Given the description of an element on the screen output the (x, y) to click on. 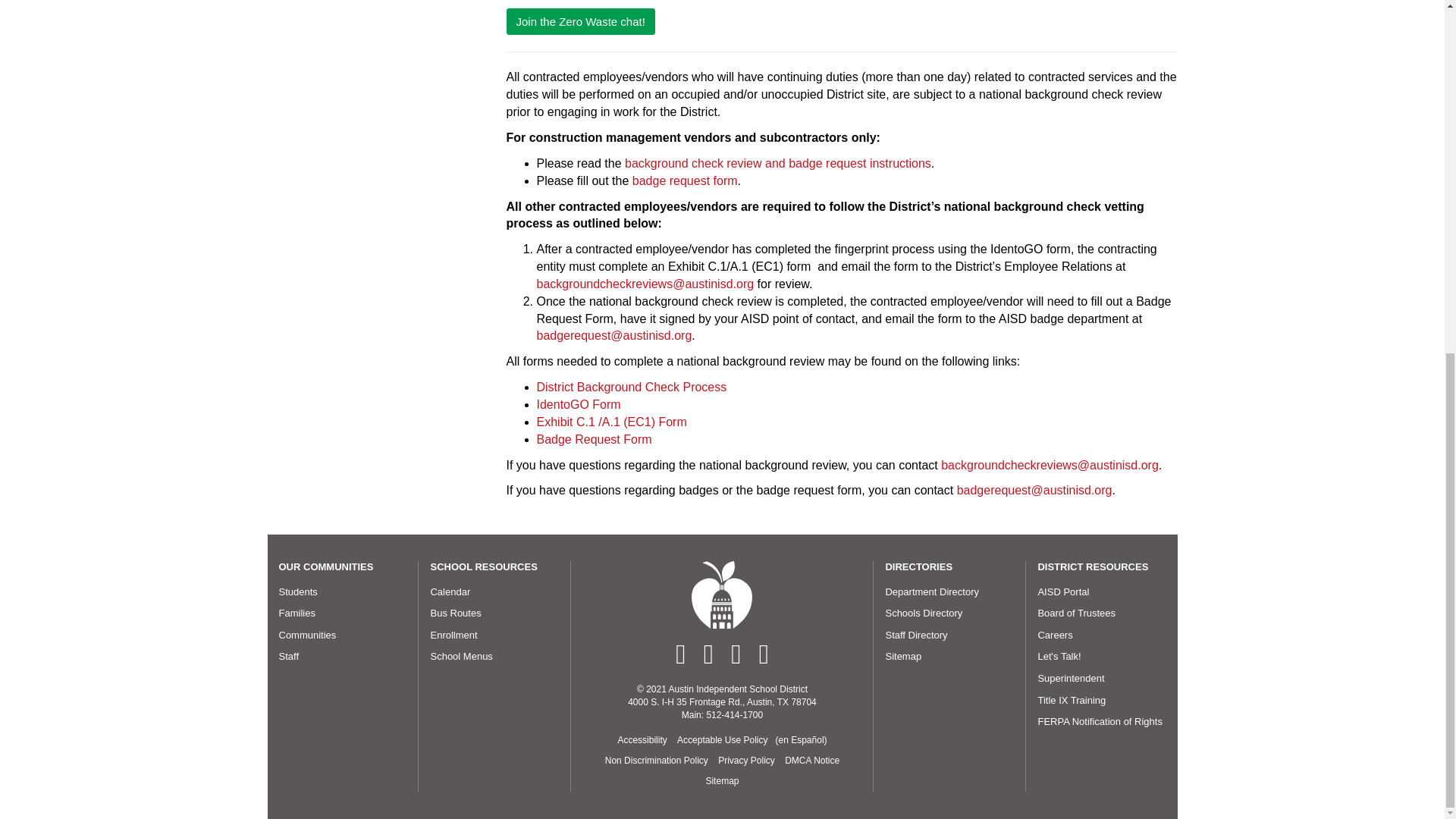
Austin ISD Website Privacy Policy (746, 761)
PDF File (656, 761)
Download PDF Acceptable Use Policy (801, 740)
Download PDF (721, 740)
